Given the description of an element on the screen output the (x, y) to click on. 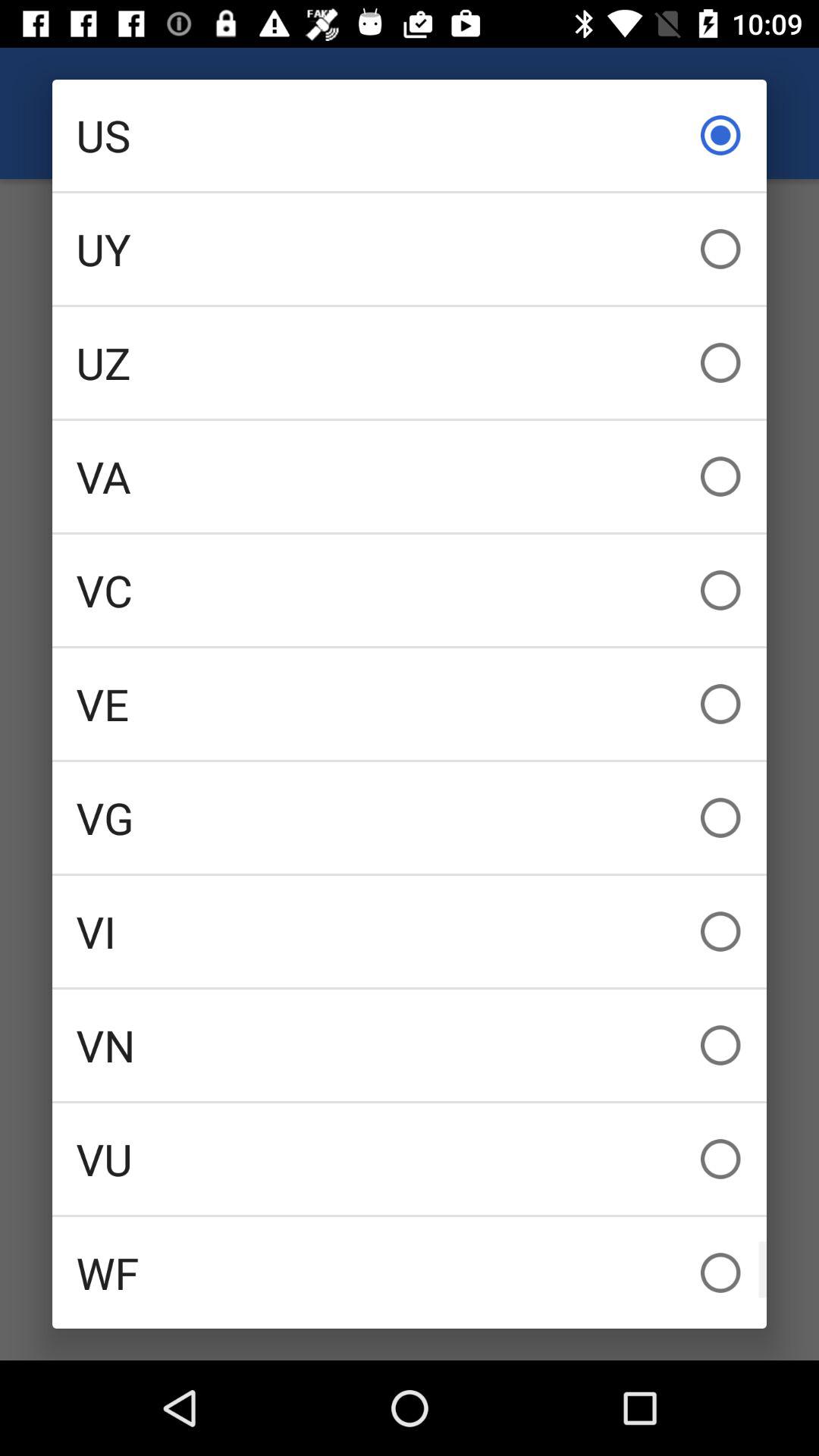
select item above the vc item (409, 476)
